Given the description of an element on the screen output the (x, y) to click on. 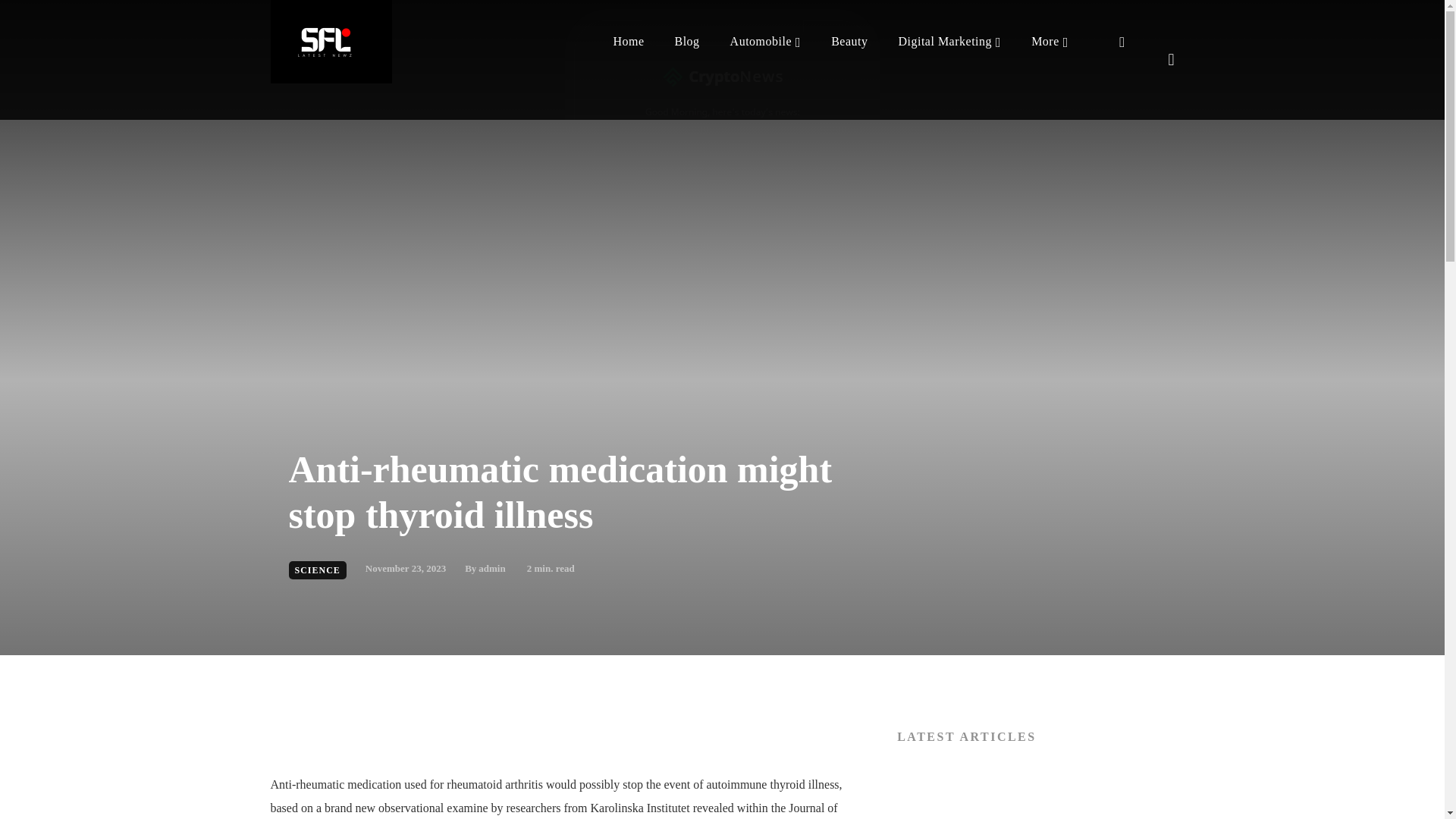
Guide to Driving the Pan-American Highway (1034, 791)
